Given the description of an element on the screen output the (x, y) to click on. 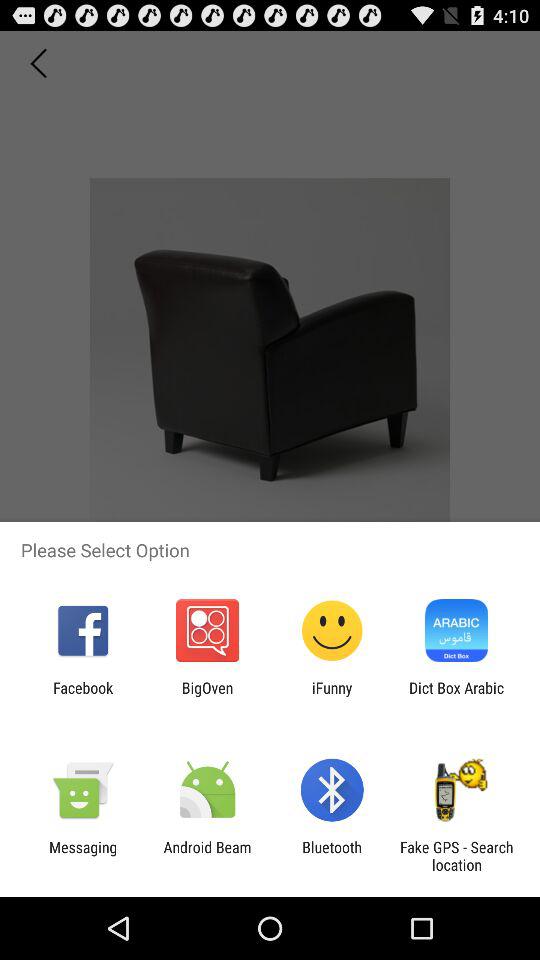
turn off the app next to bluetooth item (207, 856)
